Given the description of an element on the screen output the (x, y) to click on. 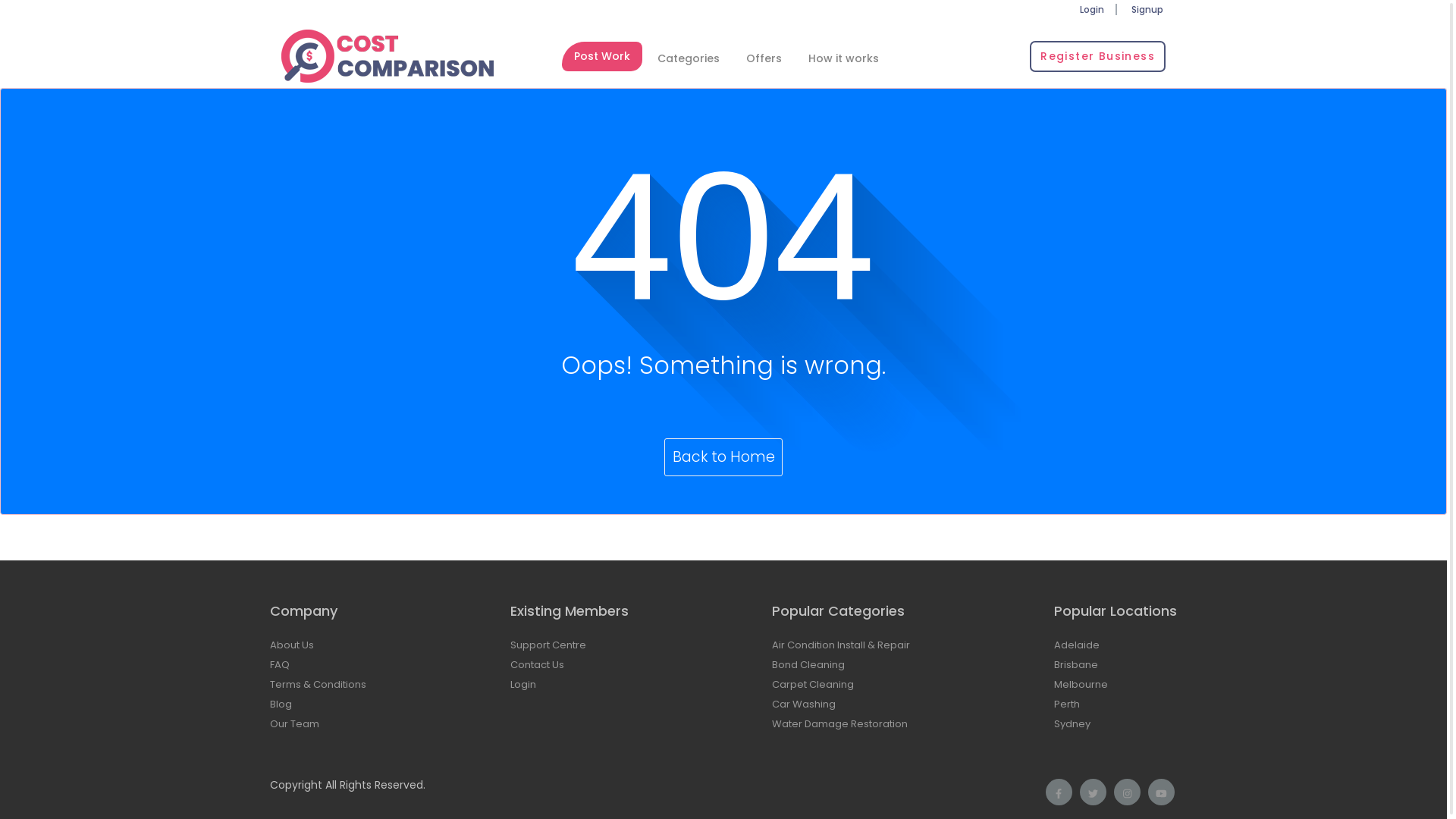
Brisbane Element type: text (1076, 664)
Contact Us Element type: text (537, 664)
Blog Element type: text (280, 703)
Adelaide Element type: text (1076, 644)
FAQ Element type: text (279, 664)
Post Work Element type: text (601, 55)
Register Business Element type: text (1097, 56)
Login Element type: text (523, 684)
Carpet Cleaning Element type: text (812, 684)
Sydney Element type: text (1072, 723)
Water Damage Restoration Element type: text (839, 723)
Terms & Conditions Element type: text (317, 684)
How it works Element type: text (843, 57)
About Us Element type: text (291, 644)
Offers Element type: text (763, 57)
Signup Element type: text (1147, 9)
Our Team Element type: text (294, 723)
Support Centre Element type: text (548, 644)
Perth Element type: text (1066, 703)
Categories Element type: text (688, 57)
Car Washing Element type: text (803, 703)
Back to Home Element type: text (723, 457)
Login Element type: text (1091, 9)
Air Condition Install & Repair Element type: text (840, 644)
Bond Cleaning Element type: text (807, 664)
Melbourne Element type: text (1080, 684)
